Given the description of an element on the screen output the (x, y) to click on. 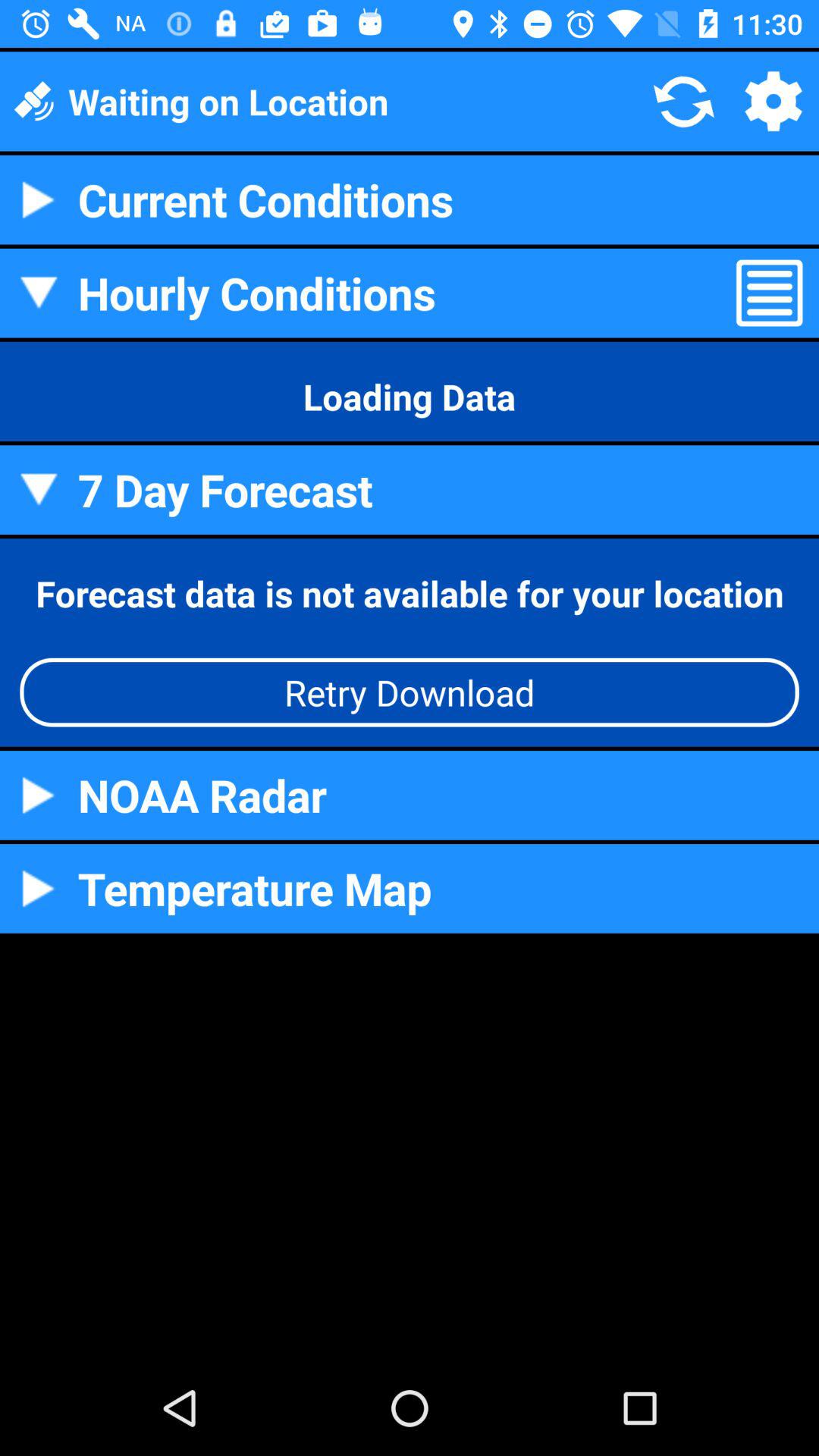
choose the retry download item (409, 692)
